Given the description of an element on the screen output the (x, y) to click on. 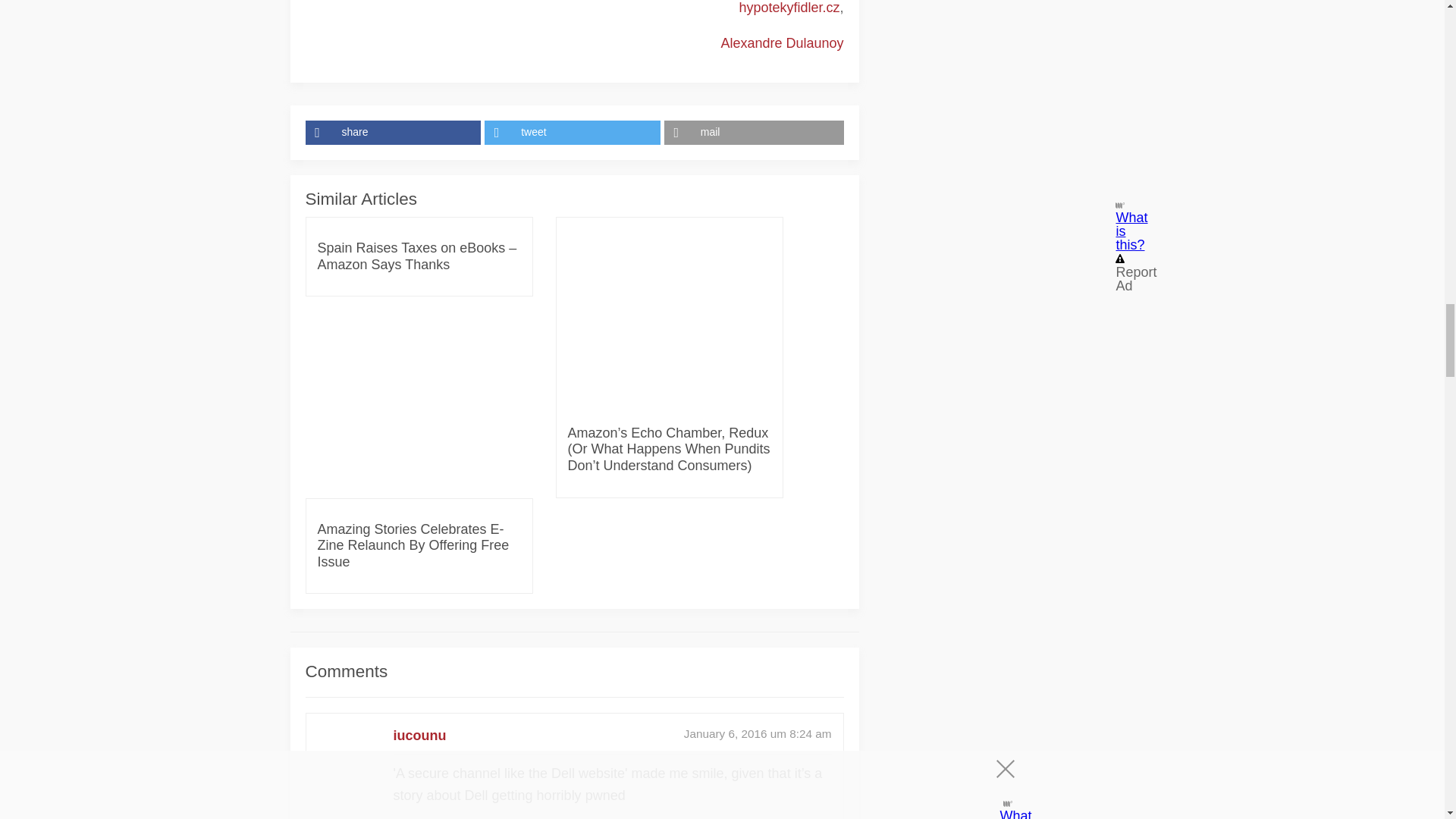
tweet (573, 132)
mail (753, 132)
Alexandre Dulaunoy (781, 43)
share (394, 132)
hypotekyfidler.cz (789, 7)
